Given the description of an element on the screen output the (x, y) to click on. 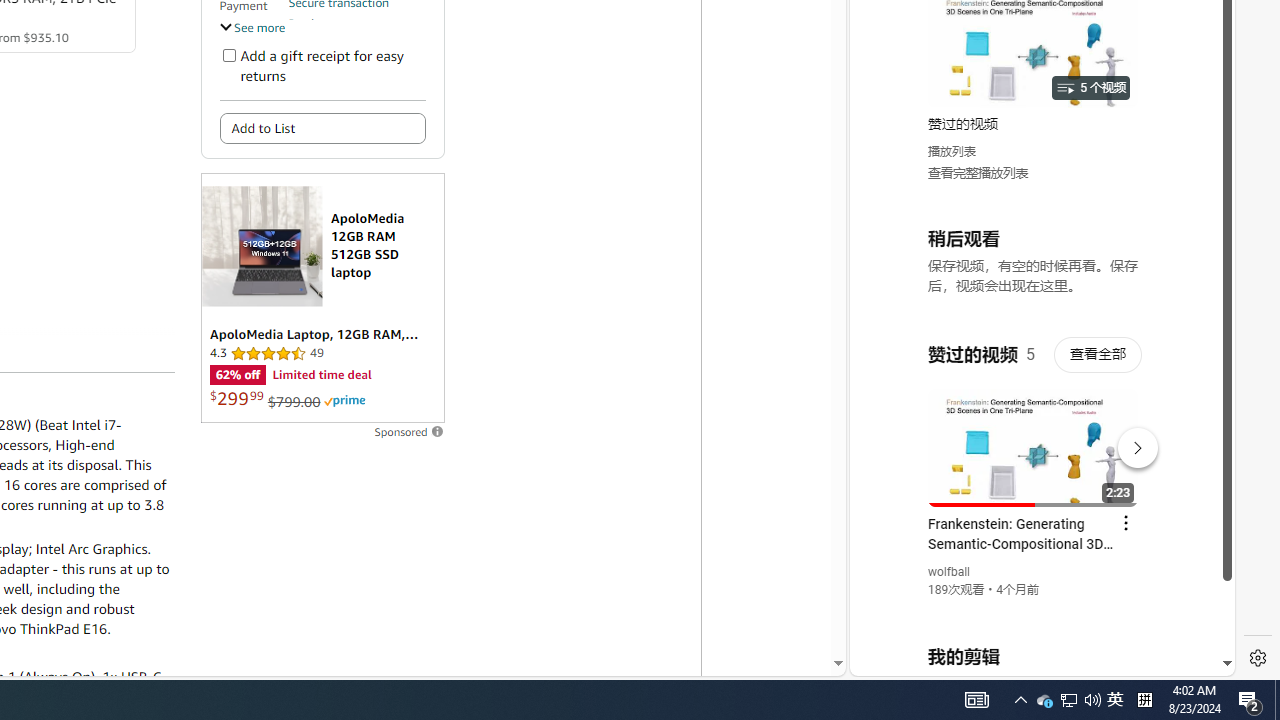
Prime (344, 400)
Add a gift receipt for easy returns (228, 54)
YouTube (1034, 432)
Class: dict_pnIcon rms_img (1028, 660)
YouTube - YouTube (1034, 266)
